Given the description of an element on the screen output the (x, y) to click on. 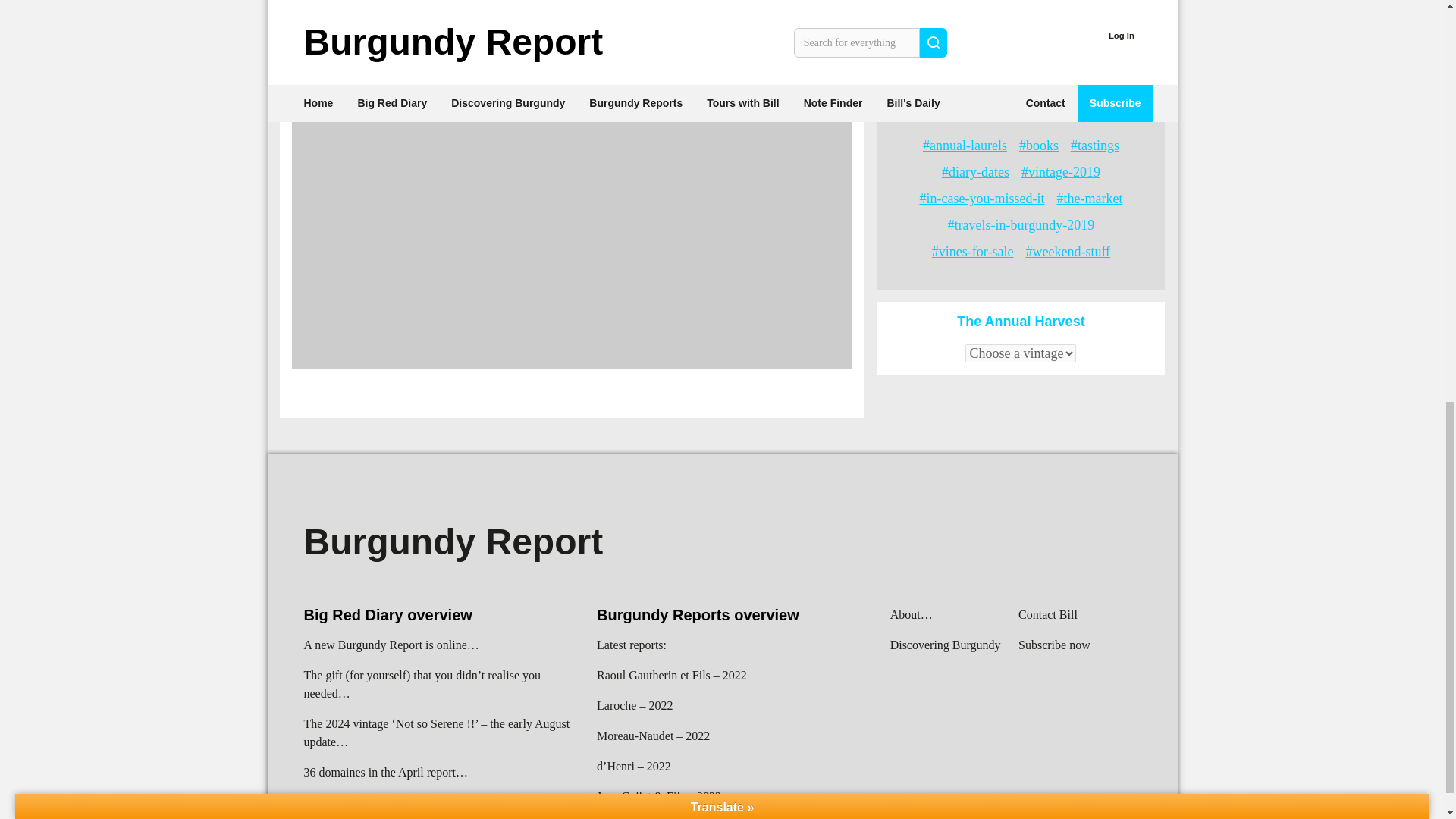
Burgundy Report (452, 541)
And why the Big Red Diary? (1020, 13)
